Given the description of an element on the screen output the (x, y) to click on. 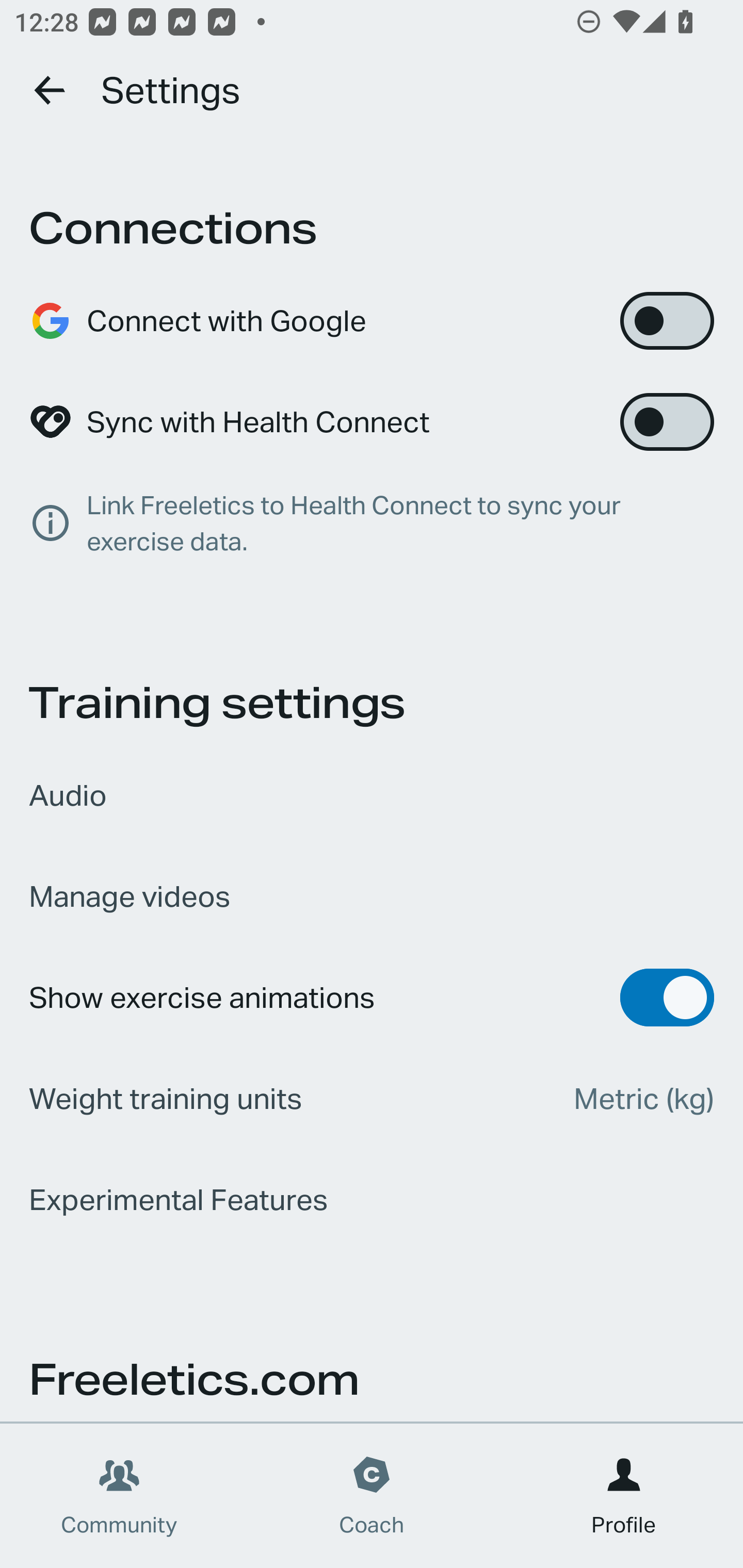
Go back (50, 90)
Connect with Google (371, 320)
Sync with Health Connect (371, 421)
Audio (371, 794)
Manage videos (371, 896)
Show exercise animations (371, 997)
Weight training units Metric (kg) (371, 1098)
Experimental Features (371, 1199)
Community (119, 1495)
Coach (371, 1495)
